Given the description of an element on the screen output the (x, y) to click on. 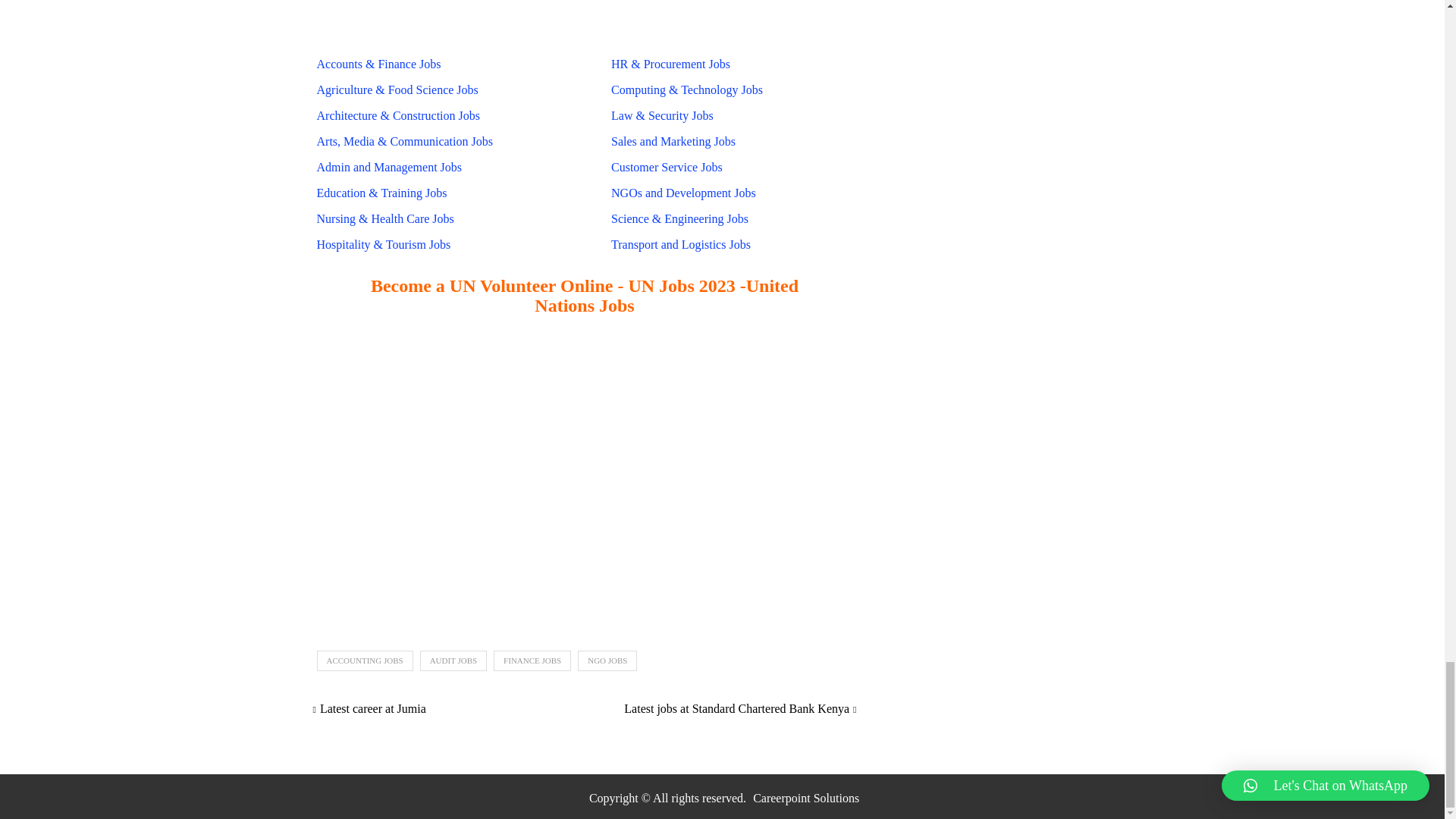
ACCOUNTING JOBS (365, 660)
NGO JOBS (607, 660)
Latest jobs at Standard Chartered Bank Kenya (740, 708)
AUDIT JOBS (453, 660)
Sales and Marketing Jobs (673, 141)
Latest career at Jumia (368, 708)
FINANCE JOBS (531, 660)
Transport and Logistics Jobs (680, 244)
Admin and Management Jobs (389, 167)
Customer Service Jobs (666, 167)
NGOs and Development Jobs (683, 192)
